Given the description of an element on the screen output the (x, y) to click on. 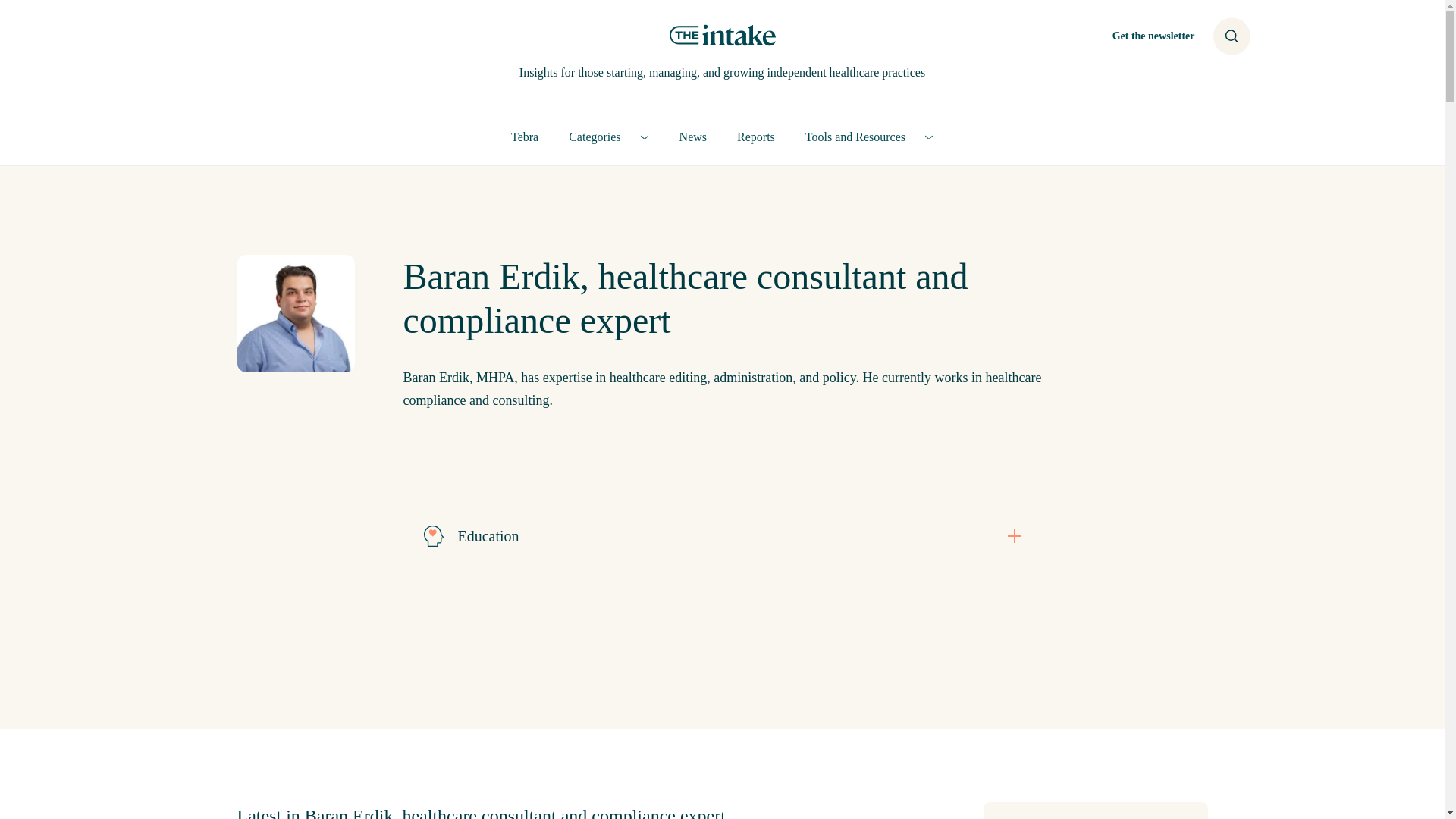
Categories (608, 136)
Reports (756, 136)
Tools and Resources (868, 136)
Get the newsletter (1153, 36)
Tebra (524, 136)
News (692, 136)
